Given the description of an element on the screen output the (x, y) to click on. 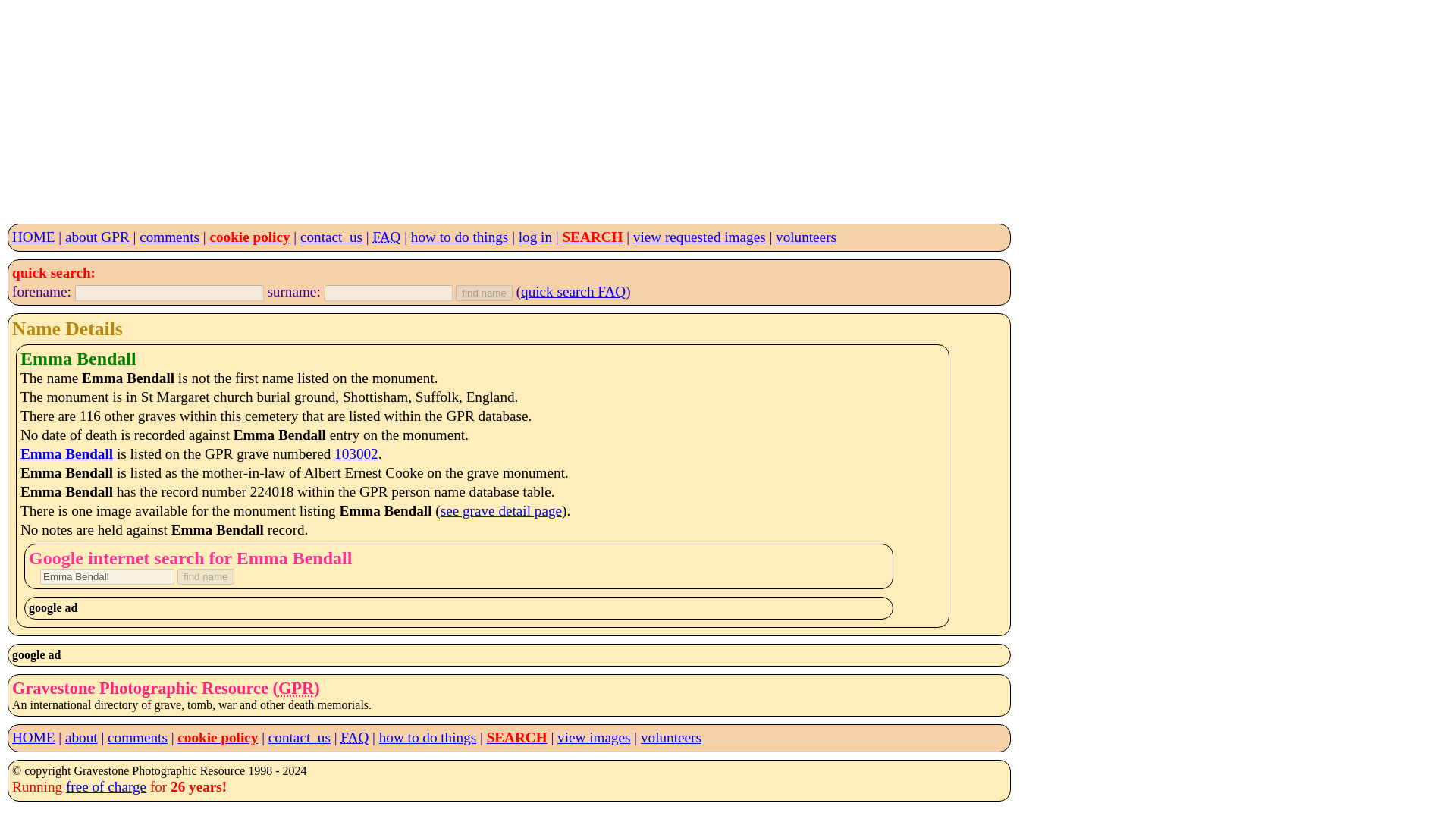
SEARCH (516, 737)
volunteers (805, 236)
about (81, 737)
about GPR (97, 236)
view requested images (699, 236)
find name (483, 293)
Emma Bendall (66, 453)
volunteers (670, 737)
FAQ (354, 737)
comments (137, 737)
